Given the description of an element on the screen output the (x, y) to click on. 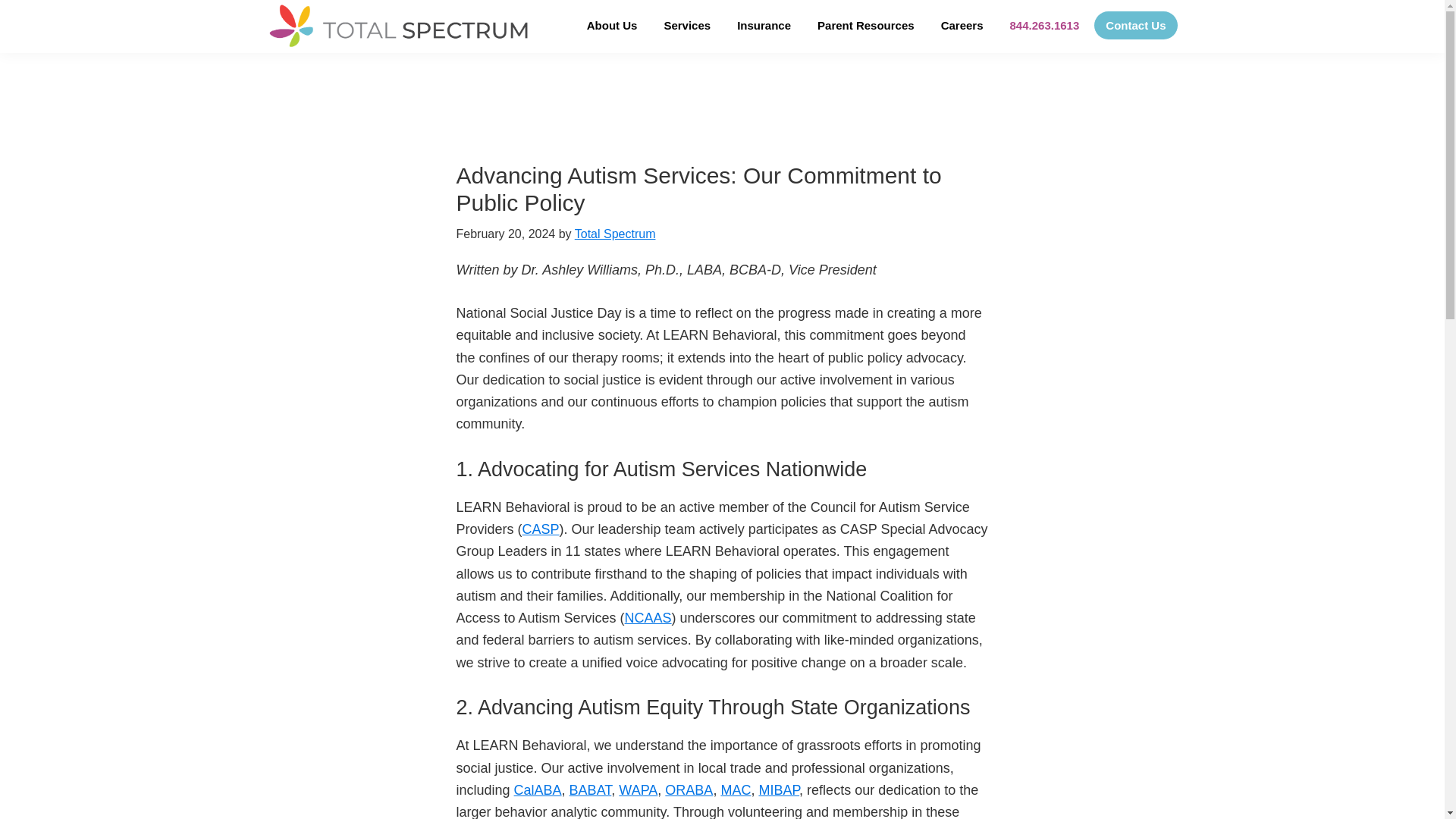
WAPA (638, 789)
844.263.1613 (1044, 25)
MAC (735, 789)
CalABA (537, 789)
Advancing Autism Services: Our Commitment to Public Policy (699, 188)
CASP (540, 529)
Careers (962, 25)
Contact Us (1135, 25)
Parent Resources (866, 25)
About Us (612, 25)
Services (687, 25)
Insurance (763, 25)
ORABA (689, 789)
NCAAS (647, 617)
